Given the description of an element on the screen output the (x, y) to click on. 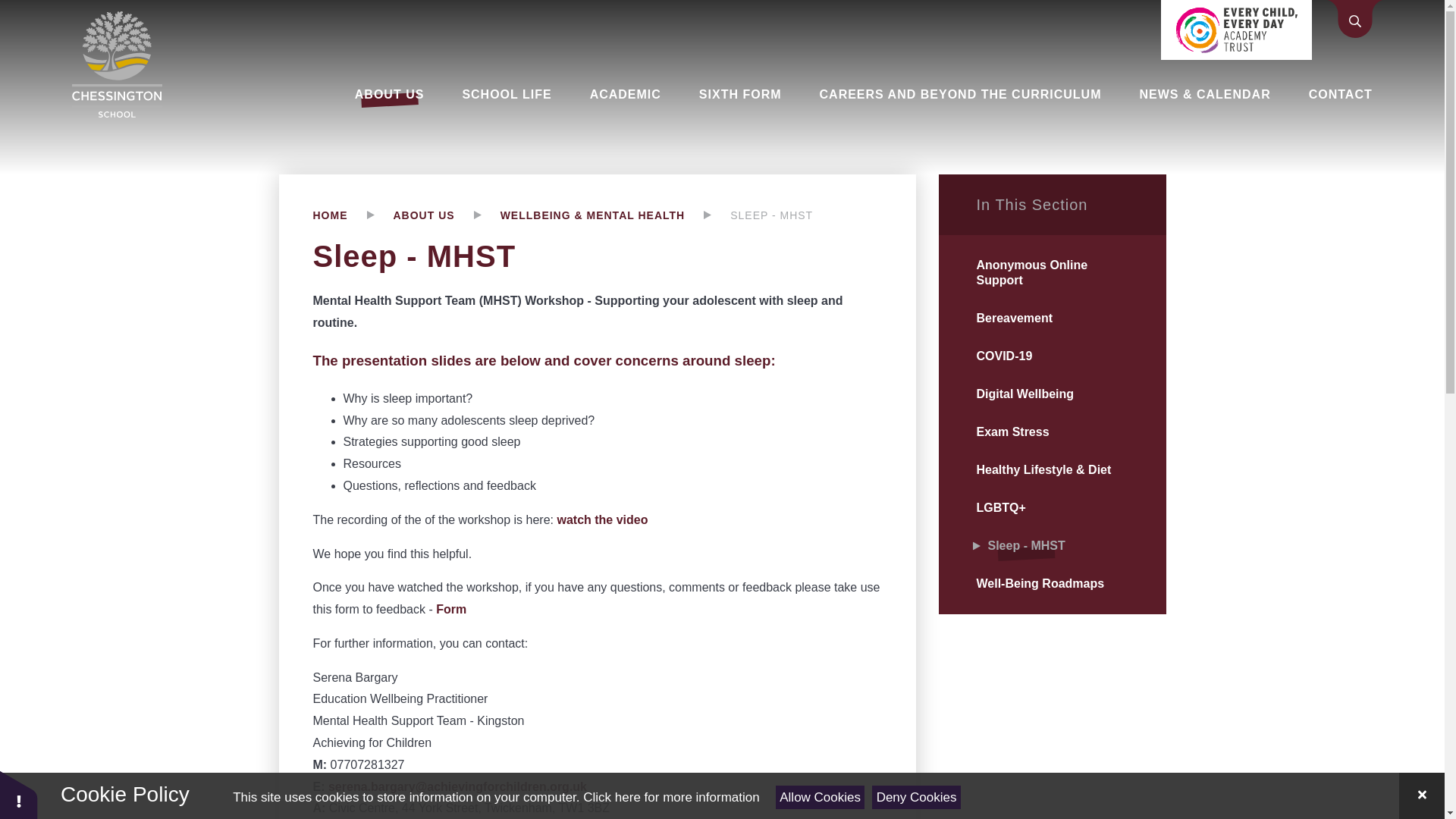
Governors (413, 109)
Vacancies (579, 109)
Toggle Search (1355, 20)
Part of the Every Child Every Day Academy Trust (1235, 29)
About Our School (605, 109)
Allow Cookies (820, 797)
Welcome to Chessington School (441, 125)
Policies (573, 109)
British Values Statement (609, 117)
See cookie policy (670, 797)
Ofsted (568, 109)
Staff (395, 109)
ABOUT US (390, 94)
Admissions (417, 109)
ECED Academy Trust (441, 117)
